Given the description of an element on the screen output the (x, y) to click on. 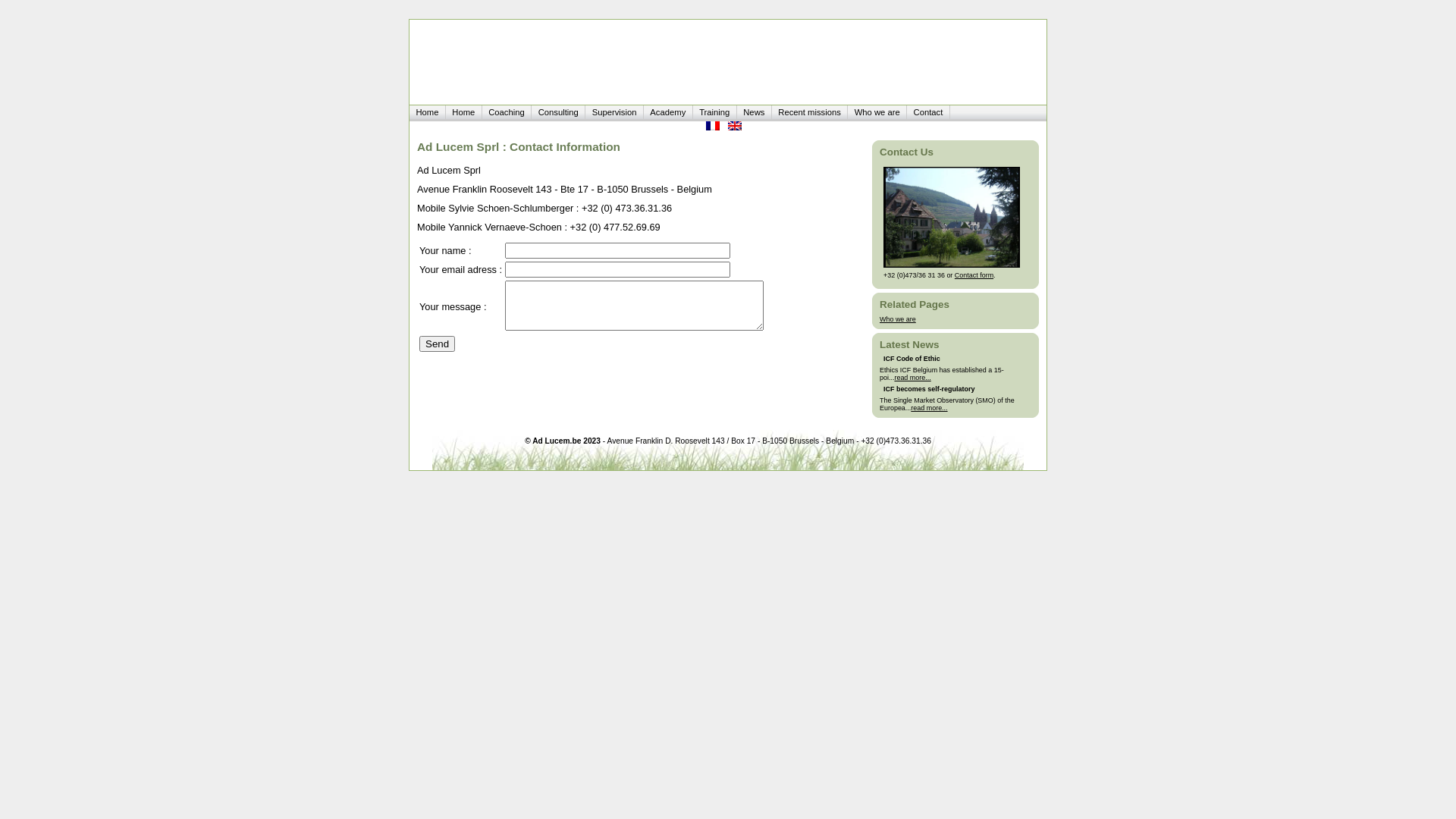
News Element type: text (754, 112)
read more... Element type: text (912, 377)
Who we are Element type: text (897, 319)
Recent missions Element type: text (809, 112)
Image for page Ad Lucem Sprl : Contact information Element type: hover (951, 216)
read more... Element type: text (928, 407)
Who we are Element type: text (876, 112)
English Element type: hover (734, 126)
Academy Element type: text (668, 112)
Contact form Element type: text (973, 275)
Contact Element type: text (928, 112)
Training Element type: text (715, 112)
Coaching Element type: text (506, 112)
Home Element type: text (463, 112)
Send Element type: text (437, 343)
Supervision Element type: text (614, 112)
Home Element type: text (427, 112)
Consulting Element type: text (558, 112)
